Given the description of an element on the screen output the (x, y) to click on. 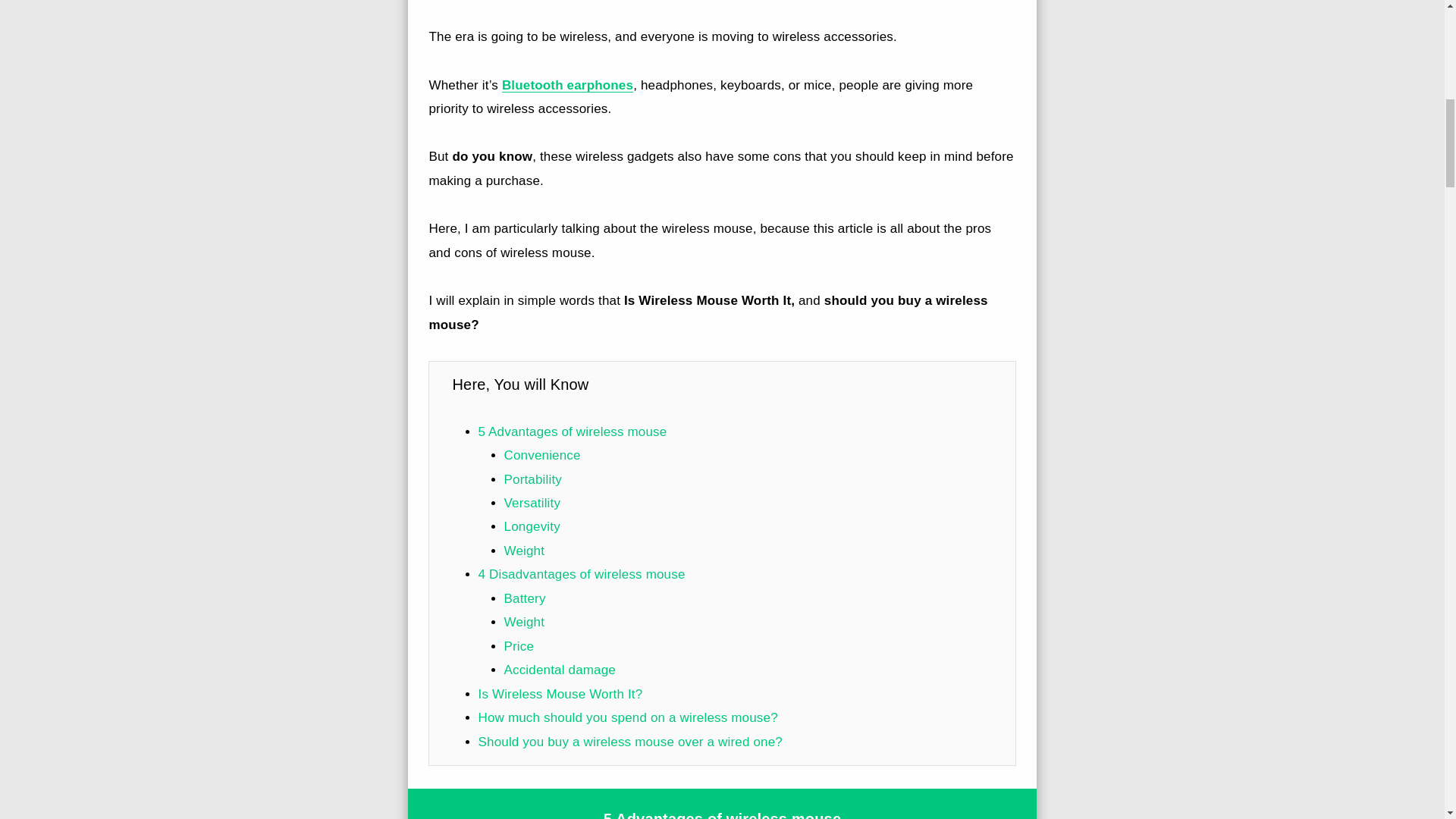
Accidental damage (559, 669)
Portability (532, 479)
Bluetooth earphones (567, 84)
Convenience (541, 454)
Longevity (531, 526)
Weight (523, 622)
Battery (524, 598)
Weight (523, 550)
Price (518, 646)
Is Wireless Mouse Worth It? (559, 694)
How much should you spend on a wireless mouse? (627, 717)
Versatility (531, 503)
Should you buy a wireless mouse over a wired one? (629, 740)
4 Disadvantages of wireless mouse (580, 574)
5 Advantages of wireless mouse (571, 431)
